Given the description of an element on the screen output the (x, y) to click on. 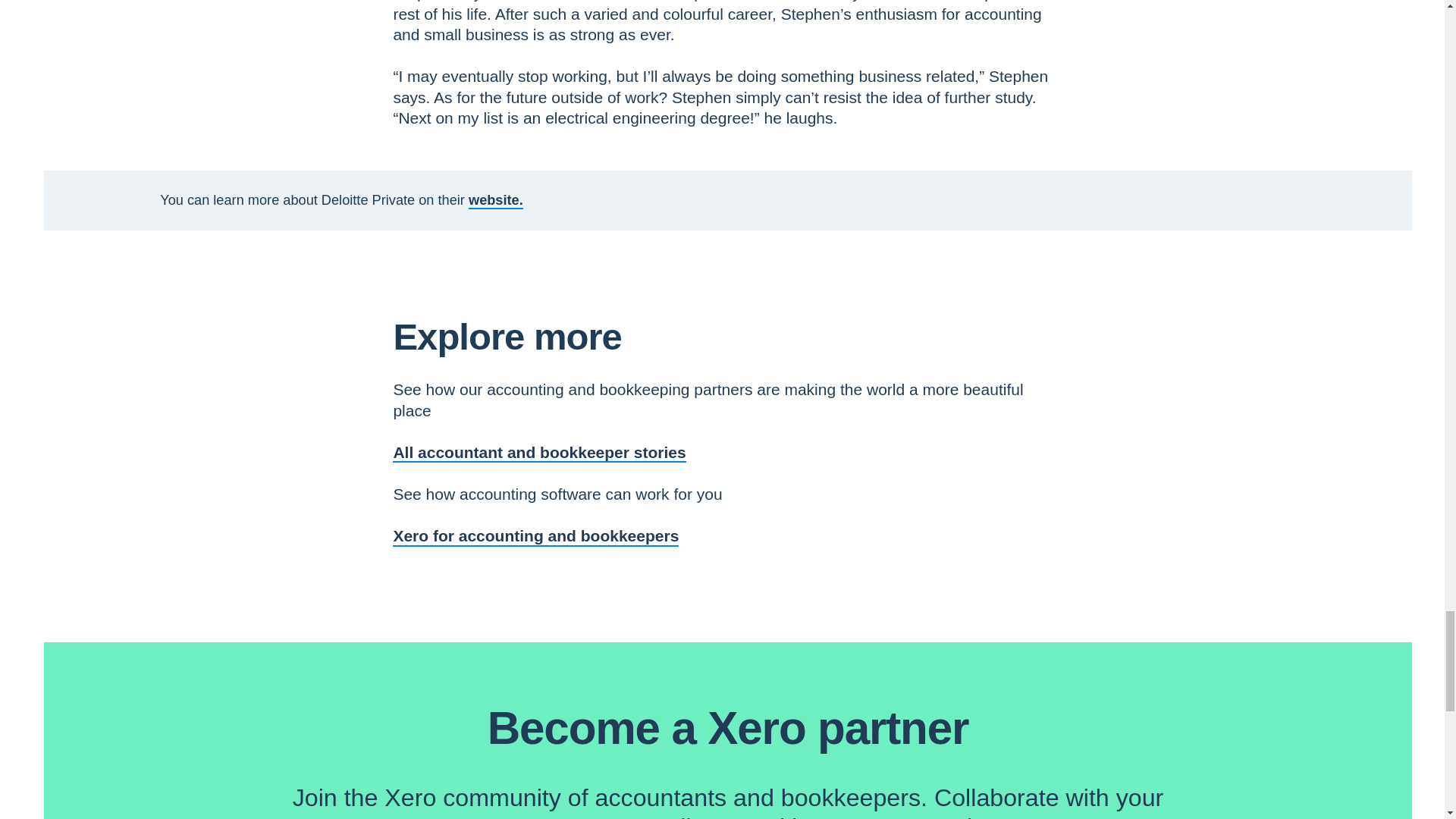
All accountant and bookkeeper stories (539, 452)
website. (495, 200)
Xero for accounting and bookkeepers (535, 535)
